Given the description of an element on the screen output the (x, y) to click on. 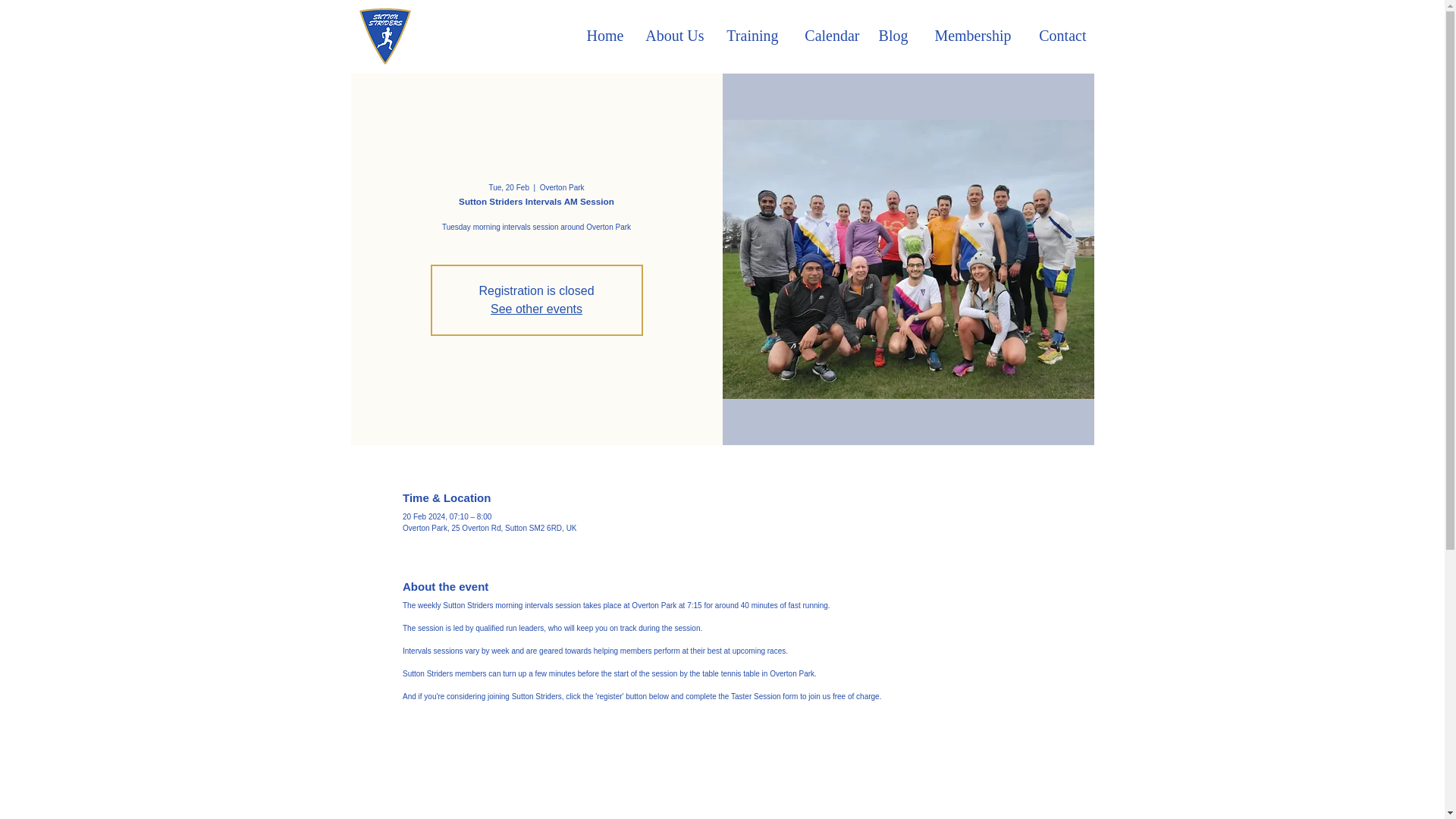
See other events (536, 308)
Blog (891, 35)
Membership (967, 35)
Calendar (826, 35)
Training (748, 35)
Contact (1056, 35)
About Us (670, 35)
Home (603, 35)
